Given the description of an element on the screen output the (x, y) to click on. 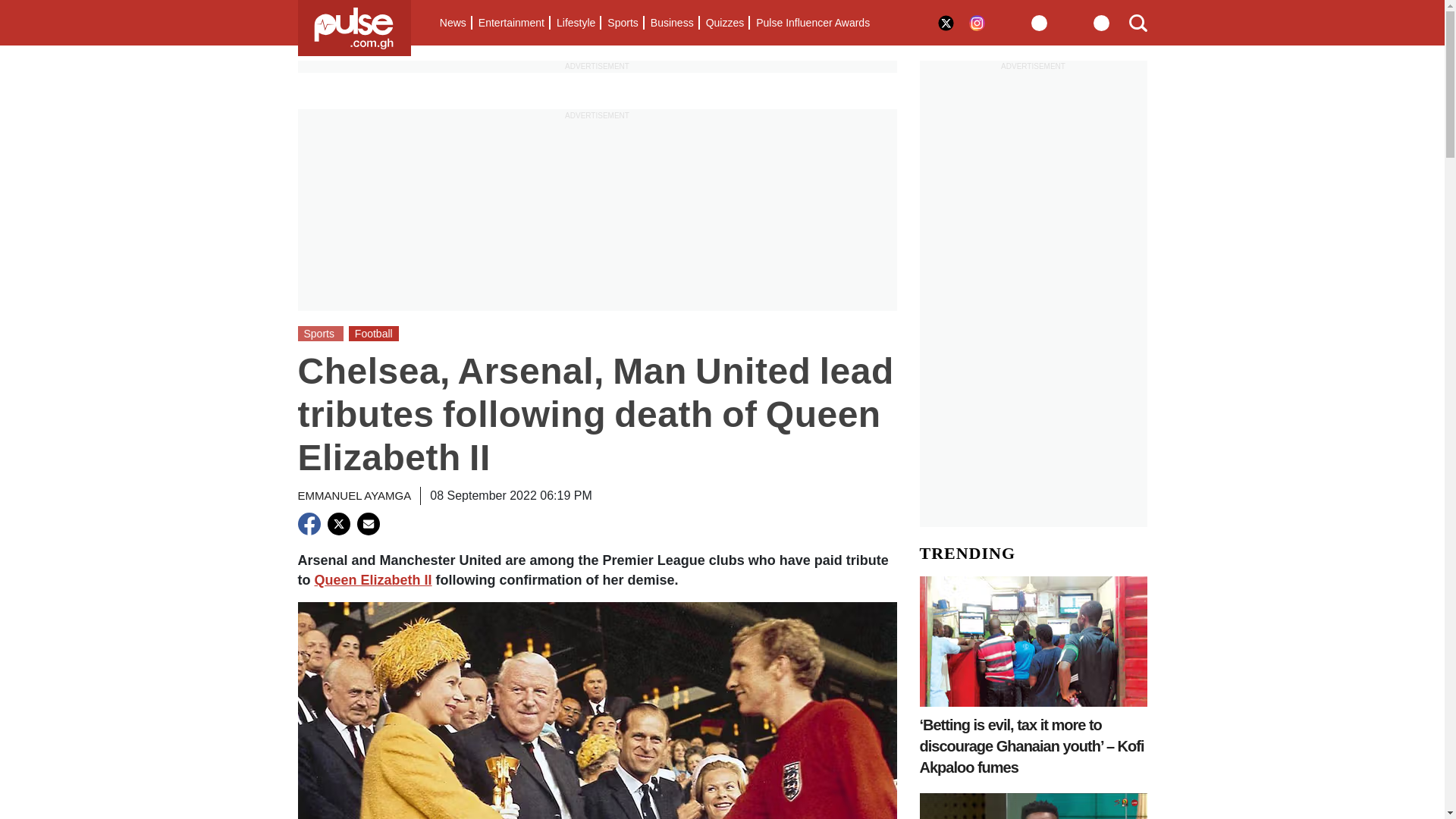
Entertainment (510, 22)
Business (672, 22)
Sports (622, 22)
Lifestyle (575, 22)
